Given the description of an element on the screen output the (x, y) to click on. 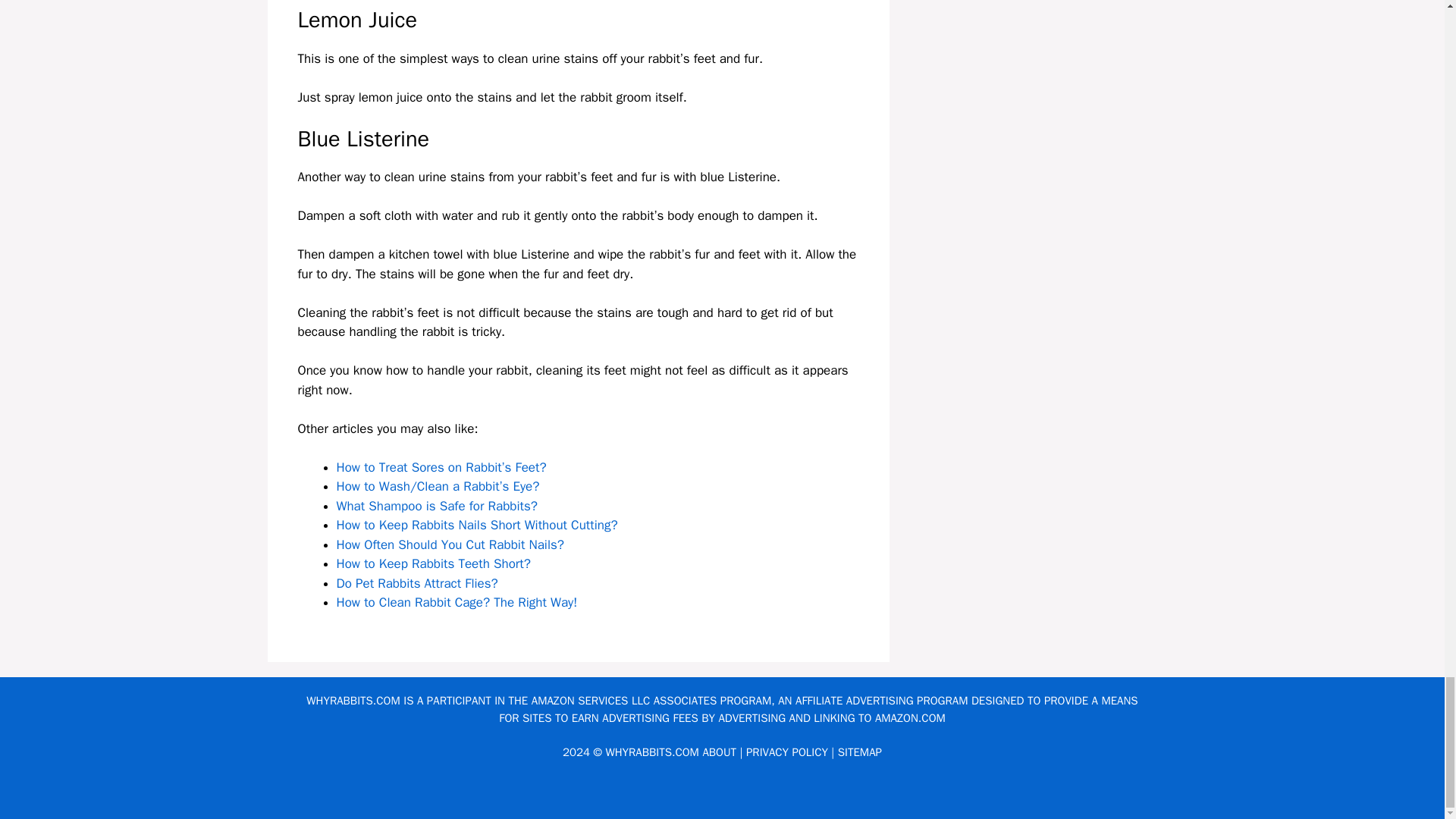
What Shampoo is Safe for Rabbits? (437, 505)
DMCA.com Protection Status (722, 795)
How to Clean Rabbit Cage? The Right Way! (457, 602)
Do Pet Rabbits Attract Flies? (416, 583)
How to Keep Rabbits Teeth Short? (433, 563)
How Often Should You Cut Rabbit Nails? (450, 544)
How to Keep Rabbits Nails Short Without Cutting? (476, 524)
